Given the description of an element on the screen output the (x, y) to click on. 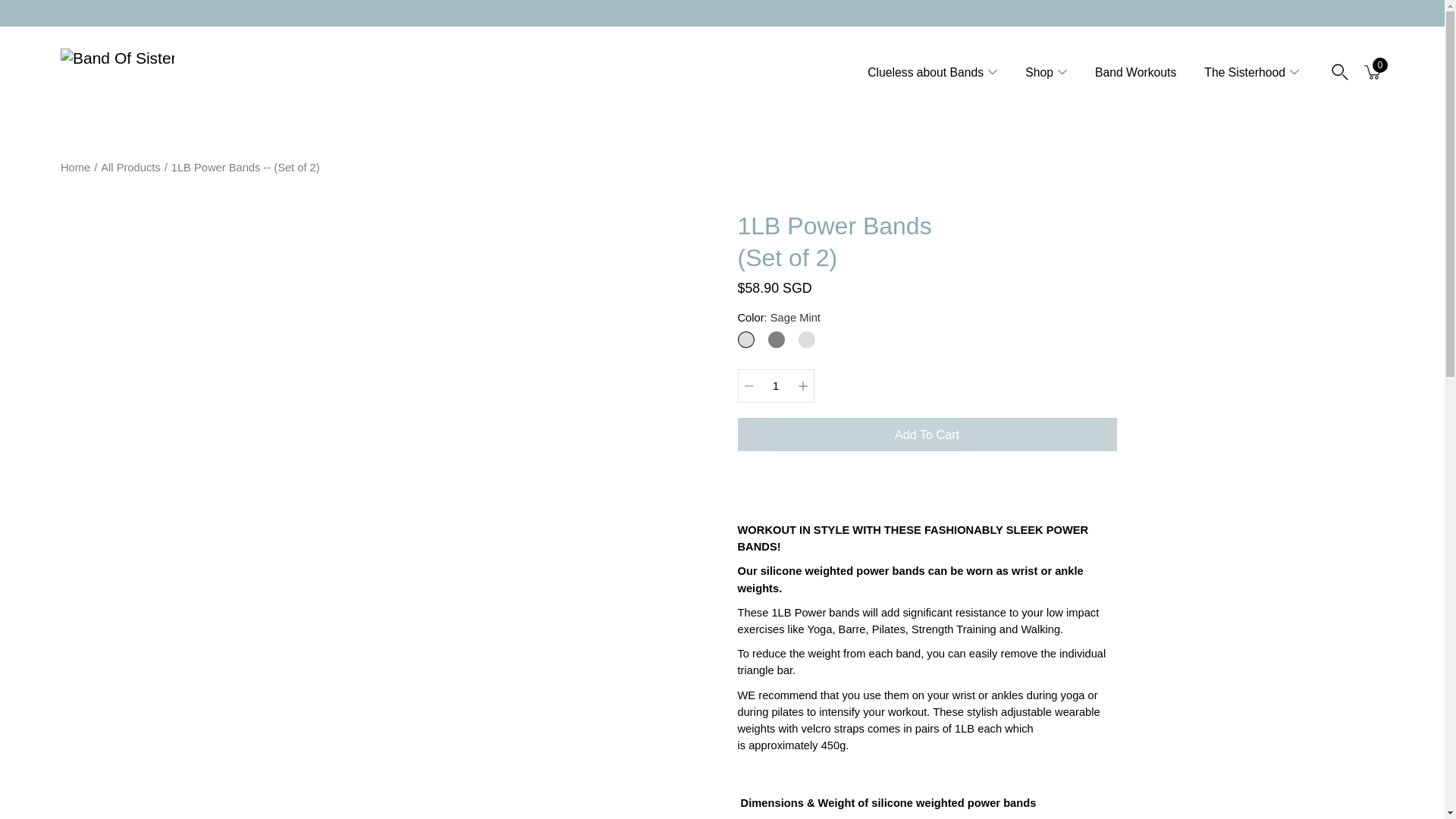
The Sisterhood (1244, 72)
1 (774, 385)
Band Workouts (1135, 72)
Clueless about Bands (925, 72)
Shop (1038, 72)
Back to the Homepage (75, 167)
